Given the description of an element on the screen output the (x, y) to click on. 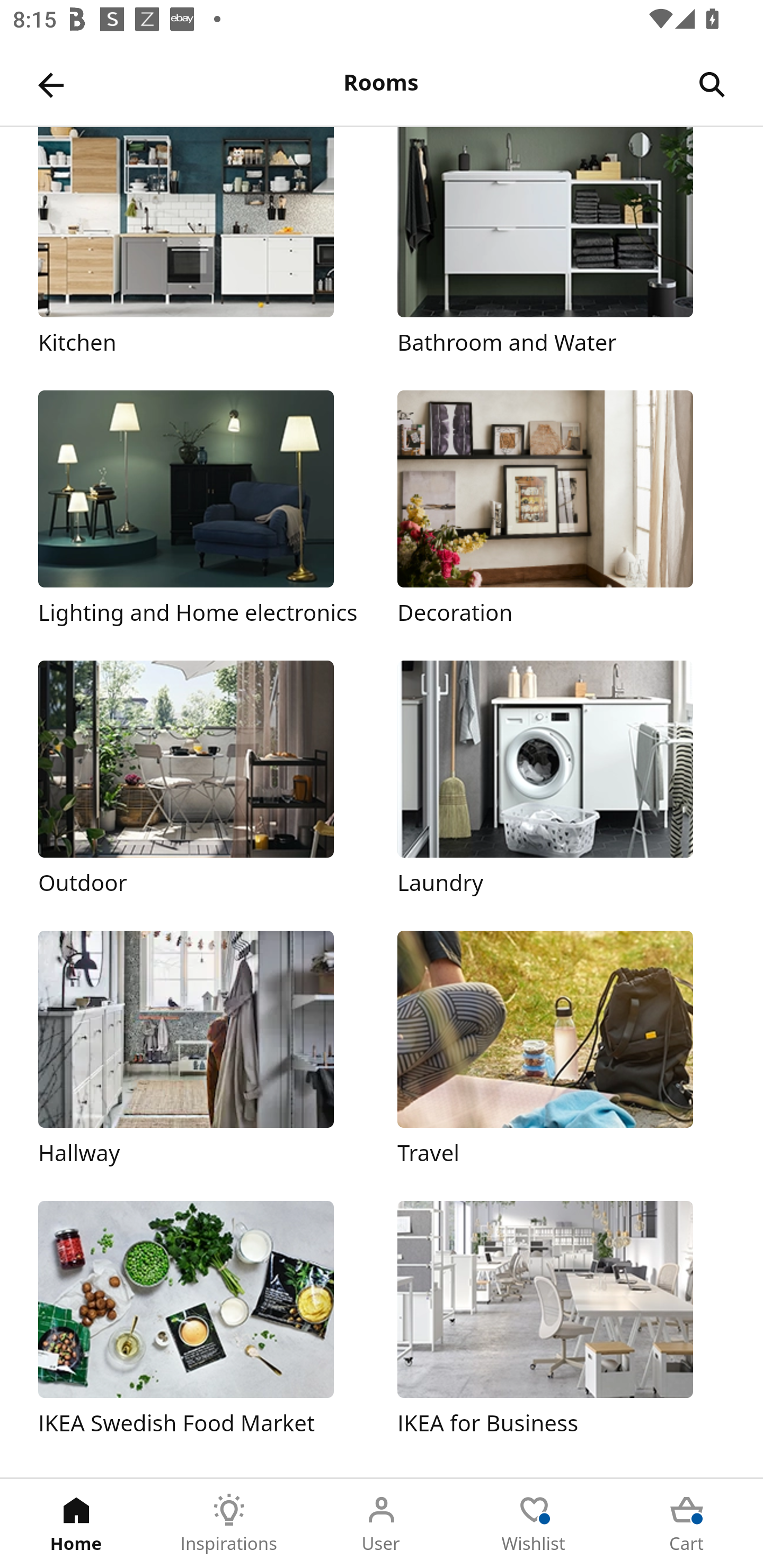
Kitchen (201, 243)
Bathroom and Water (560, 243)
Lighting and Home electronics (201, 509)
Decoration (560, 509)
Outdoor (201, 779)
Laundry (560, 779)
Hallway (201, 1050)
Travel (560, 1050)
IKEA Swedish Food Market (201, 1320)
IKEA for Business (560, 1320)
Home
Tab 1 of 5 (76, 1522)
Inspirations
Tab 2 of 5 (228, 1522)
User
Tab 3 of 5 (381, 1522)
Wishlist
Tab 4 of 5 (533, 1522)
Cart
Tab 5 of 5 (686, 1522)
